Given the description of an element on the screen output the (x, y) to click on. 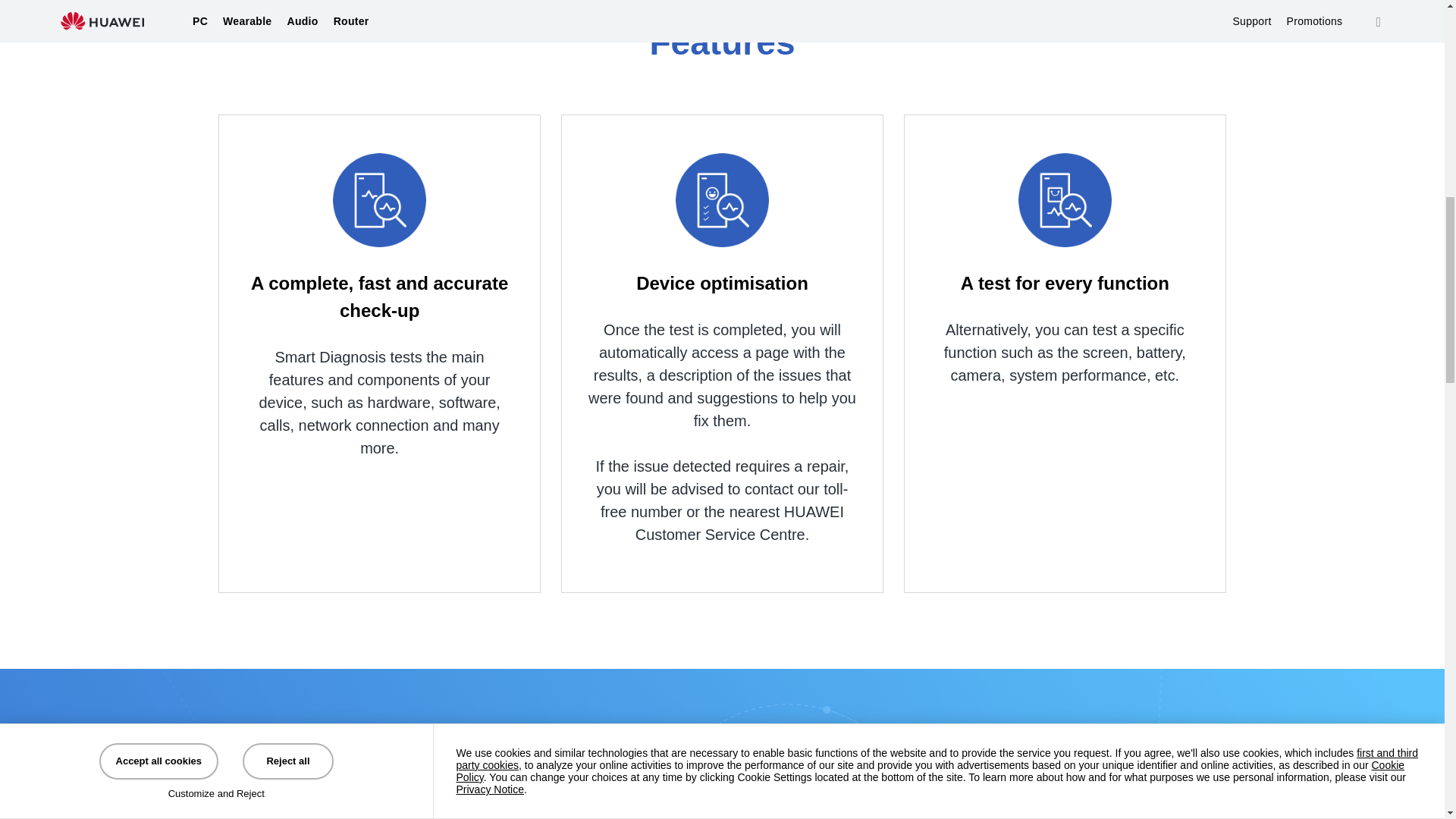
consumer-tkbdownload.huawei.com (1175, 161)
Cookies Preference (107, 21)
dtm-dre.platform.hicloud.com (1175, 293)
HWWAFSESID (690, 293)
consumer.huawei.com (1175, 266)
huawei.com (1175, 81)
consumer.huawei.com (1175, 319)
CookieInformationConsent (690, 319)
ccpce-de.consumer.huawei.com (1175, 214)
HWWAFSESID (690, 266)
huawei.com (1175, 107)
consumer-tkbdownload.huawei.com (1175, 240)
JSESSIONID    (690, 214)
JSESSIONID (690, 134)
JSESSIONID     (690, 240)
